Given the description of an element on the screen output the (x, y) to click on. 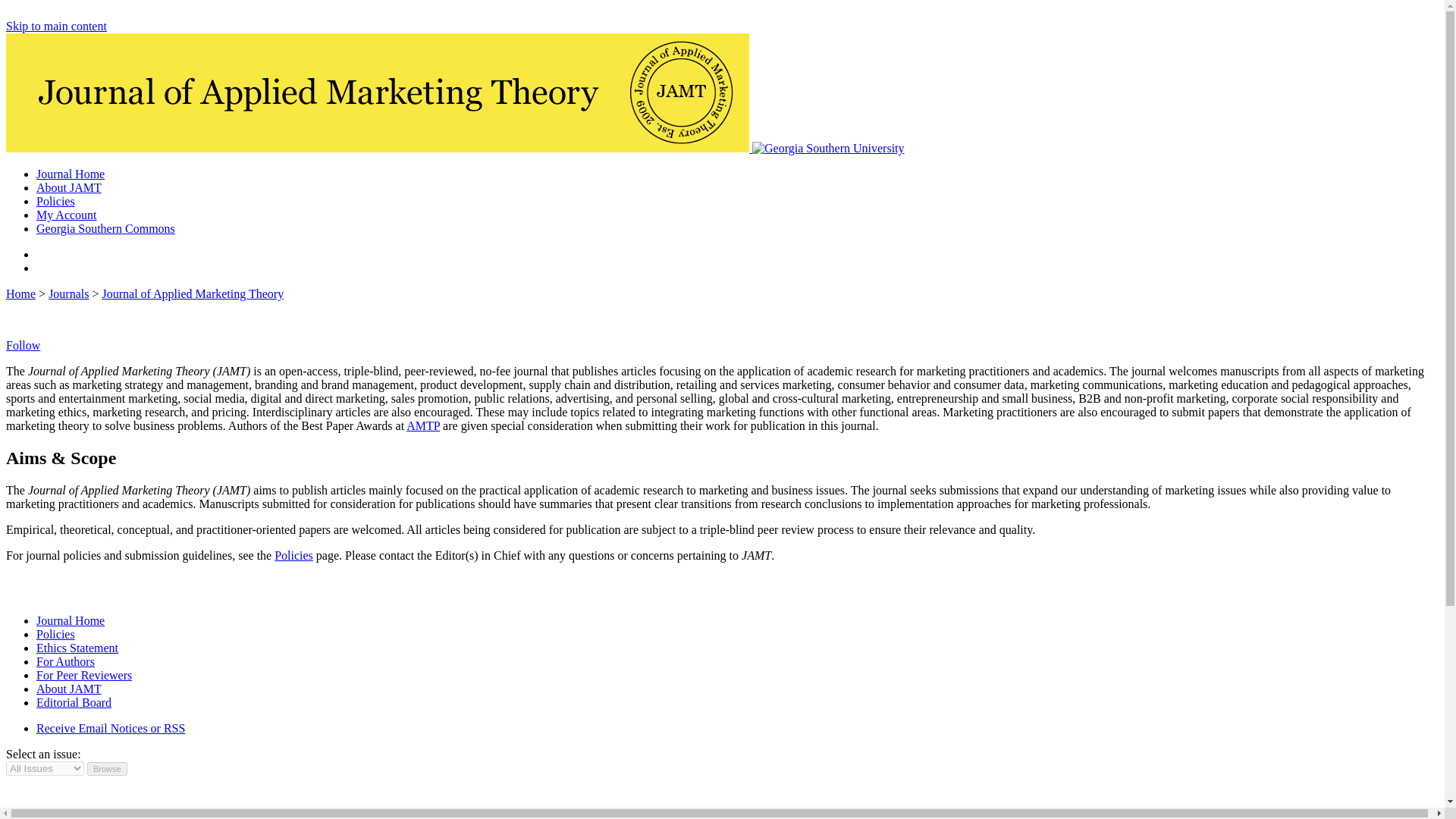
Browse (107, 768)
About JAMT (68, 688)
Browse (107, 768)
Follow Journal of Applied Marketing Theory (22, 345)
Editorial Board (74, 702)
About JAMT (68, 187)
Receive notifications of new content (110, 727)
Journal Home (70, 620)
Receive Email Notices or RSS (110, 727)
Journal of Applied Marketing Theory (192, 293)
Browse (107, 768)
Ethics Statement (76, 647)
Home (19, 293)
Home (105, 228)
About JAMT (68, 187)
